Given the description of an element on the screen output the (x, y) to click on. 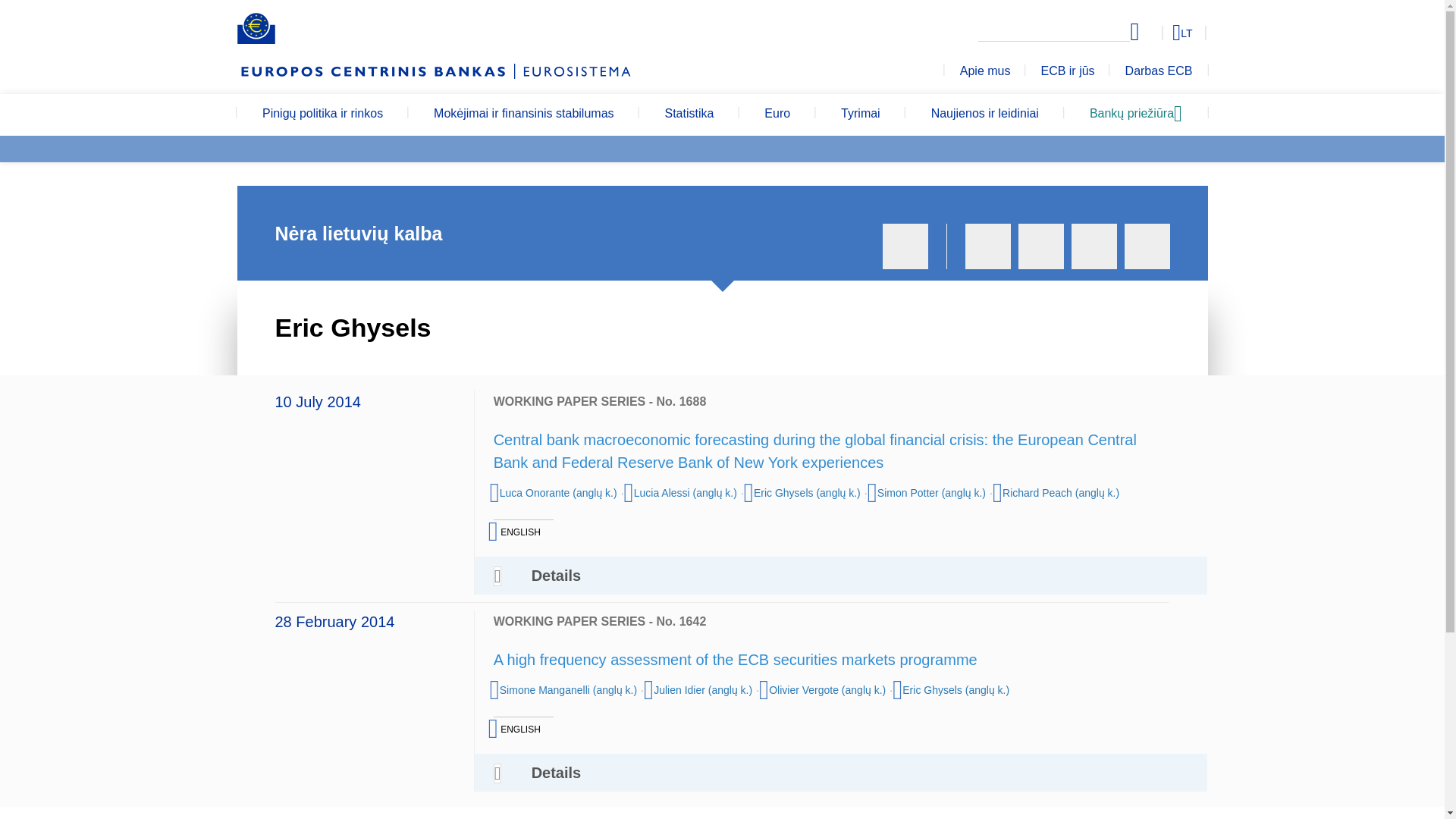
Select language (1153, 32)
